Given the description of an element on the screen output the (x, y) to click on. 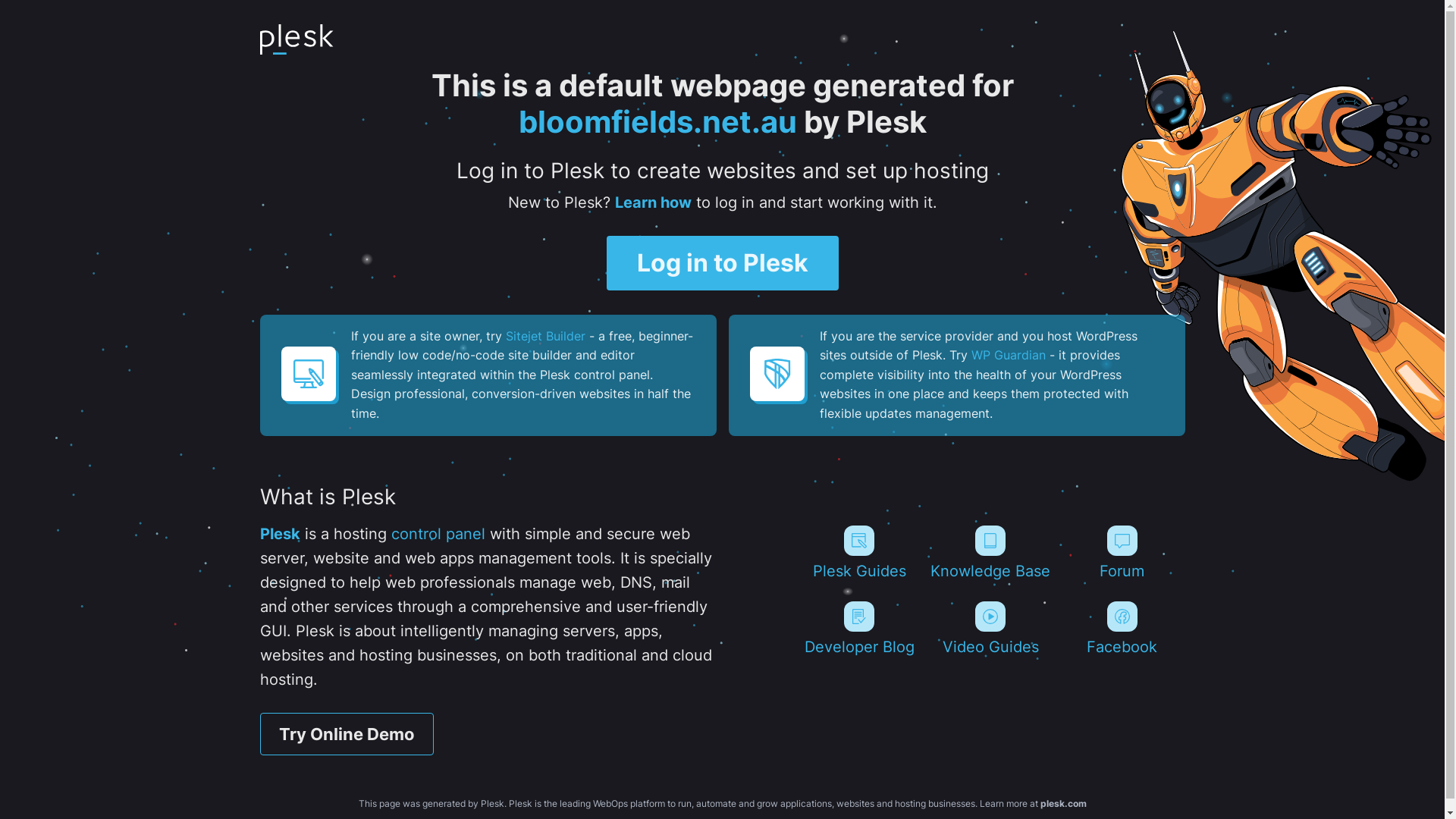
Plesk Guides Element type: text (858, 552)
Knowledge Base Element type: text (990, 552)
Facebook Element type: text (1121, 628)
Developer Blog Element type: text (858, 628)
Plesk Element type: text (279, 533)
plesk.com Element type: text (1063, 803)
WP Guardian Element type: text (1007, 354)
Sitejet Builder Element type: text (544, 335)
Video Guides Element type: text (990, 628)
bloomfields.net.au Element type: text (657, 121)
Forum Element type: text (1121, 552)
Log in to Plesk Element type: text (722, 262)
Try Online Demo Element type: text (346, 733)
Learn how Element type: text (652, 202)
control panel Element type: text (438, 533)
